Given the description of an element on the screen output the (x, y) to click on. 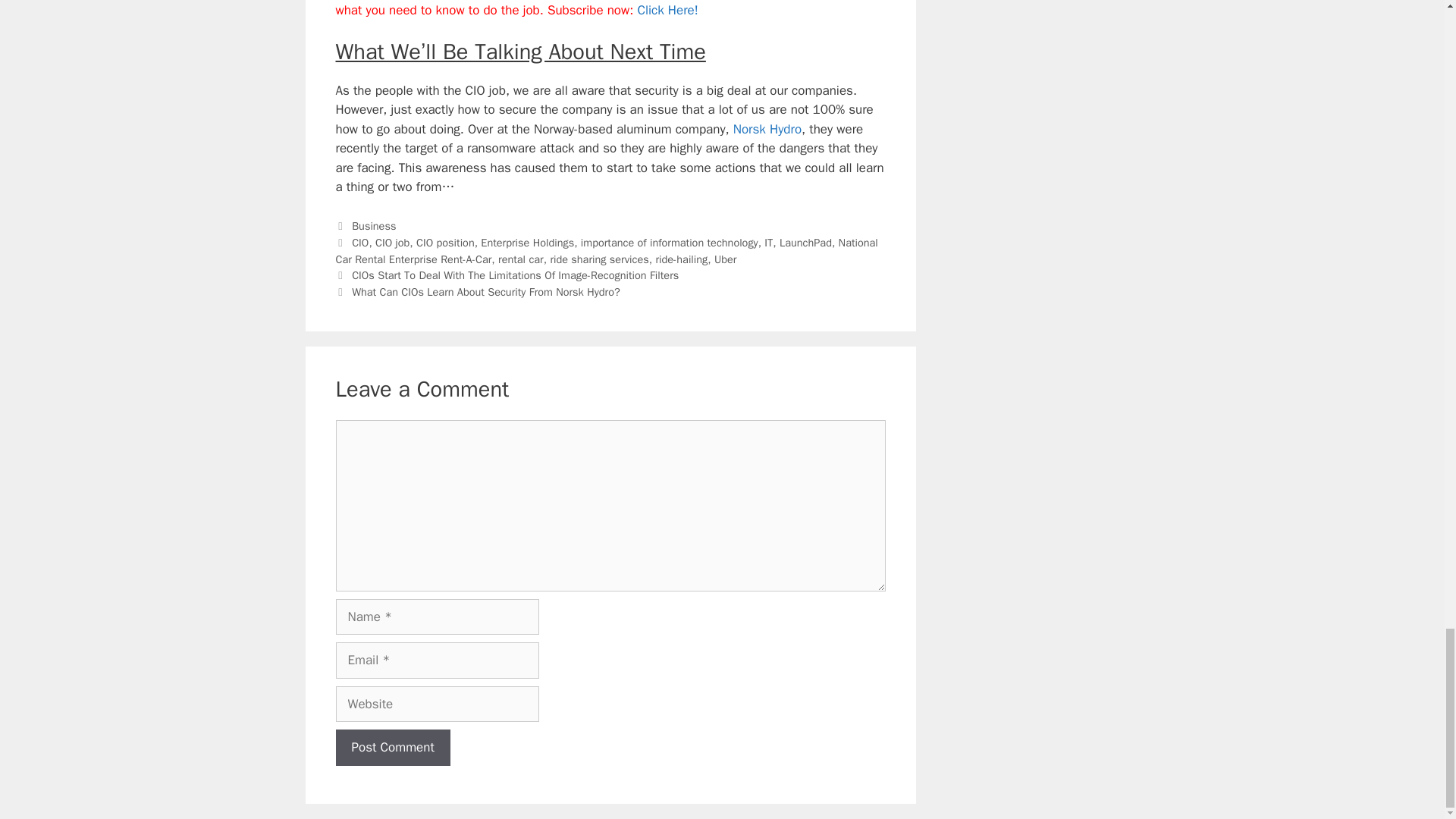
rental car (520, 259)
ride-hailing (681, 259)
importance of information technology (669, 242)
Business (374, 225)
What Can CIOs Learn About Security From Norsk Hydro? (486, 291)
ride sharing services (598, 259)
CIO (360, 242)
CIO position (445, 242)
Norsk Hydro (767, 129)
Post Comment (391, 747)
Click Here! (667, 10)
CIO job (392, 242)
Subscribe to The Accidental Successful CIO Newsletter (667, 10)
Enterprise Holdings (526, 242)
